Given the description of an element on the screen output the (x, y) to click on. 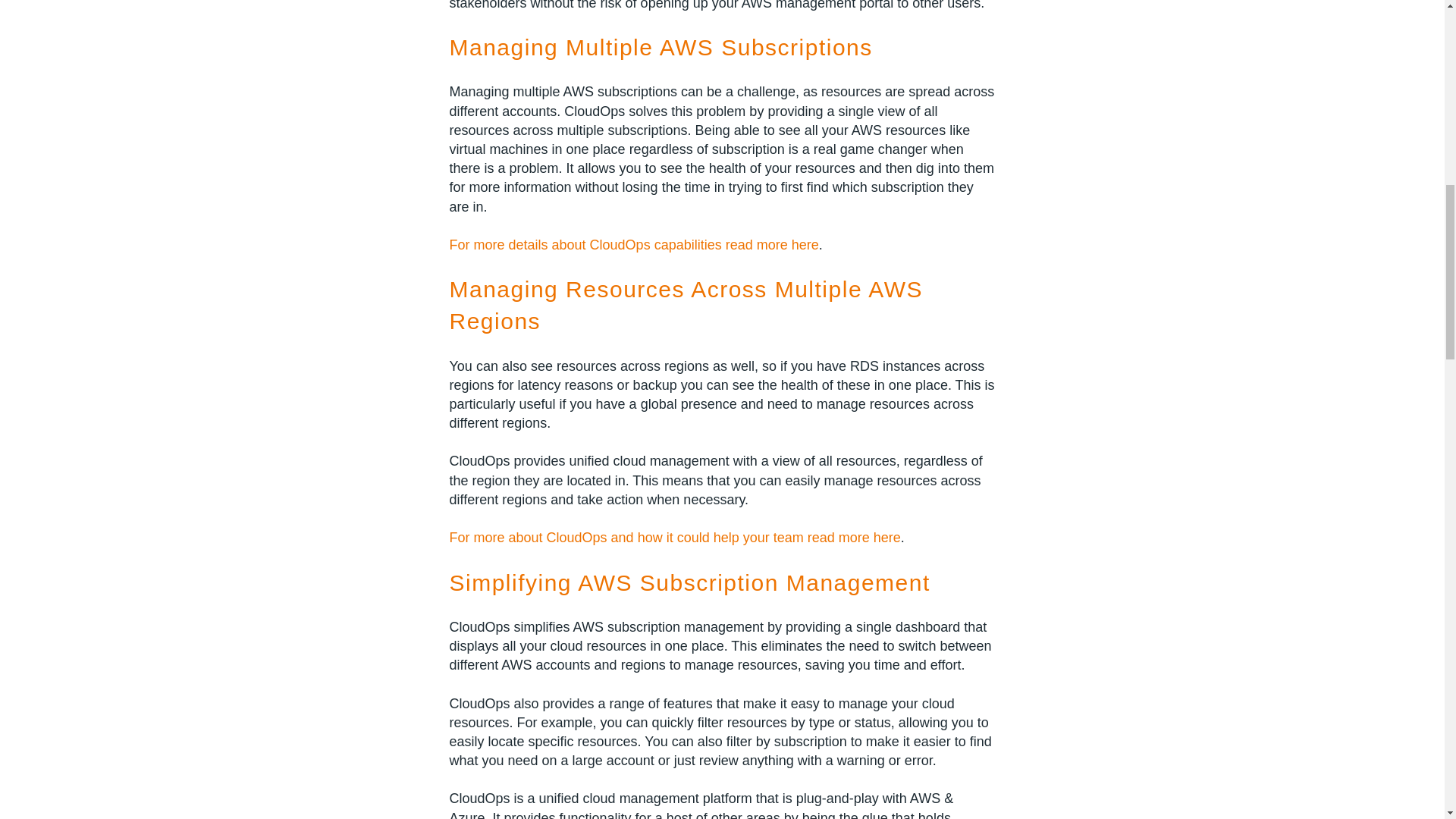
For more details about CloudOps capabilities read more here (633, 244)
